Given the description of an element on the screen output the (x, y) to click on. 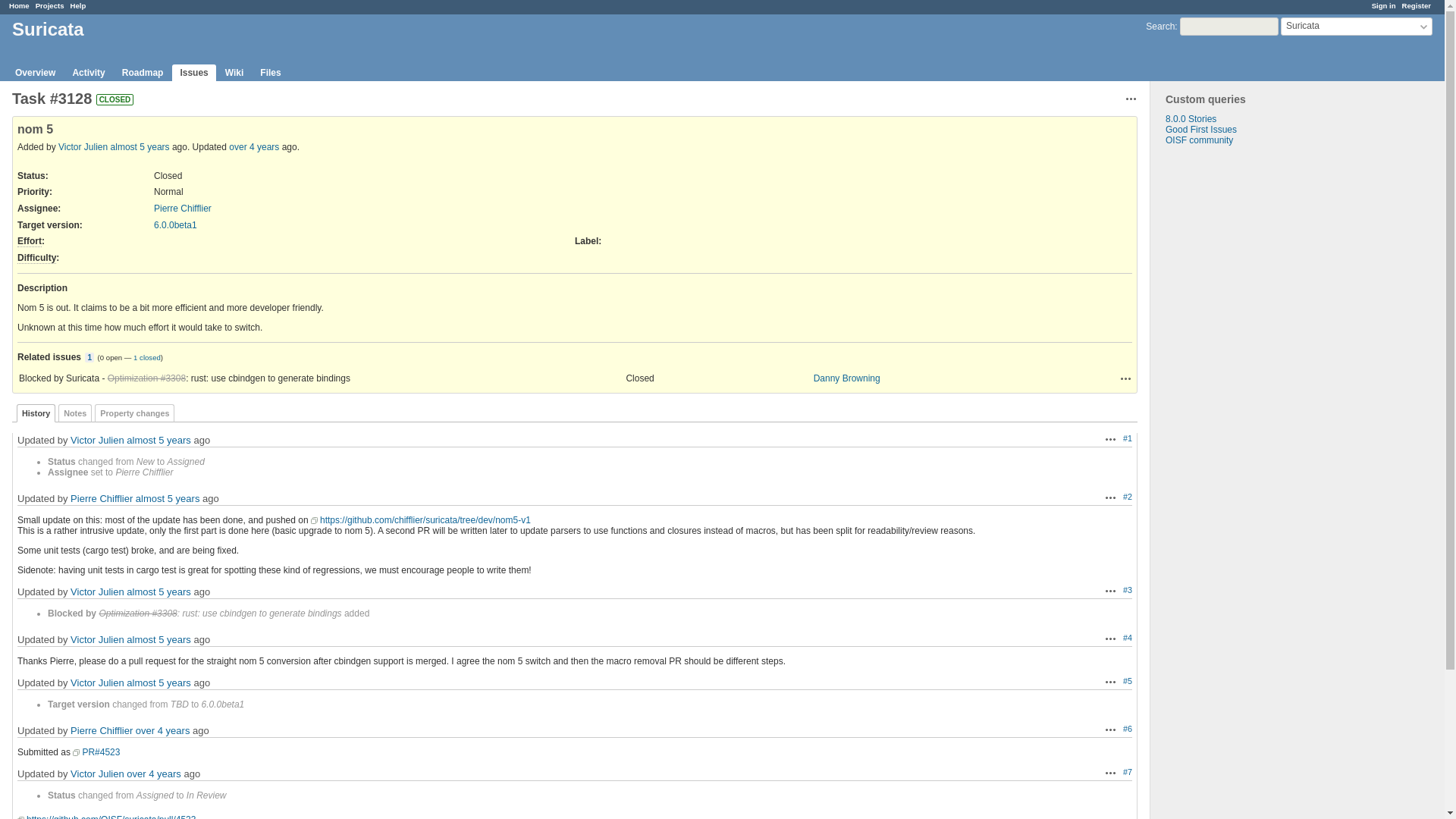
Danny Browning (846, 378)
Pierre Chifflier (182, 208)
Actions (1131, 98)
Victor Julien (96, 439)
Roadmap (143, 72)
Projects (49, 5)
OISF community (1199, 140)
Actions (1110, 729)
Wiki (233, 72)
Actions (1110, 681)
Actions (1125, 378)
Property changes (134, 413)
Victor Julien (82, 146)
Issues (193, 72)
